Given the description of an element on the screen output the (x, y) to click on. 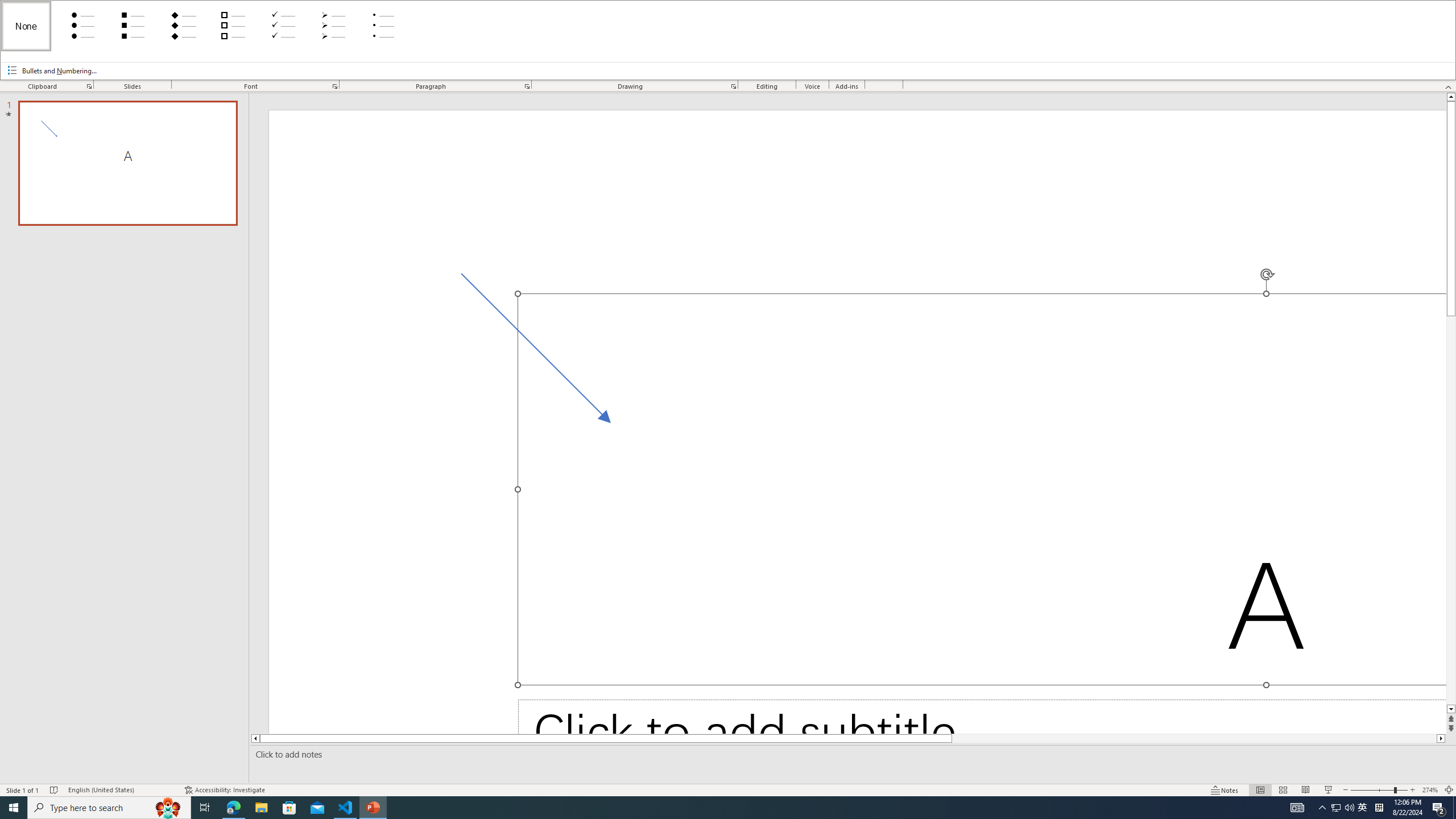
Straight Arrow Connector 4 (542, 354)
&Bullets (728, 40)
